Given the description of an element on the screen output the (x, y) to click on. 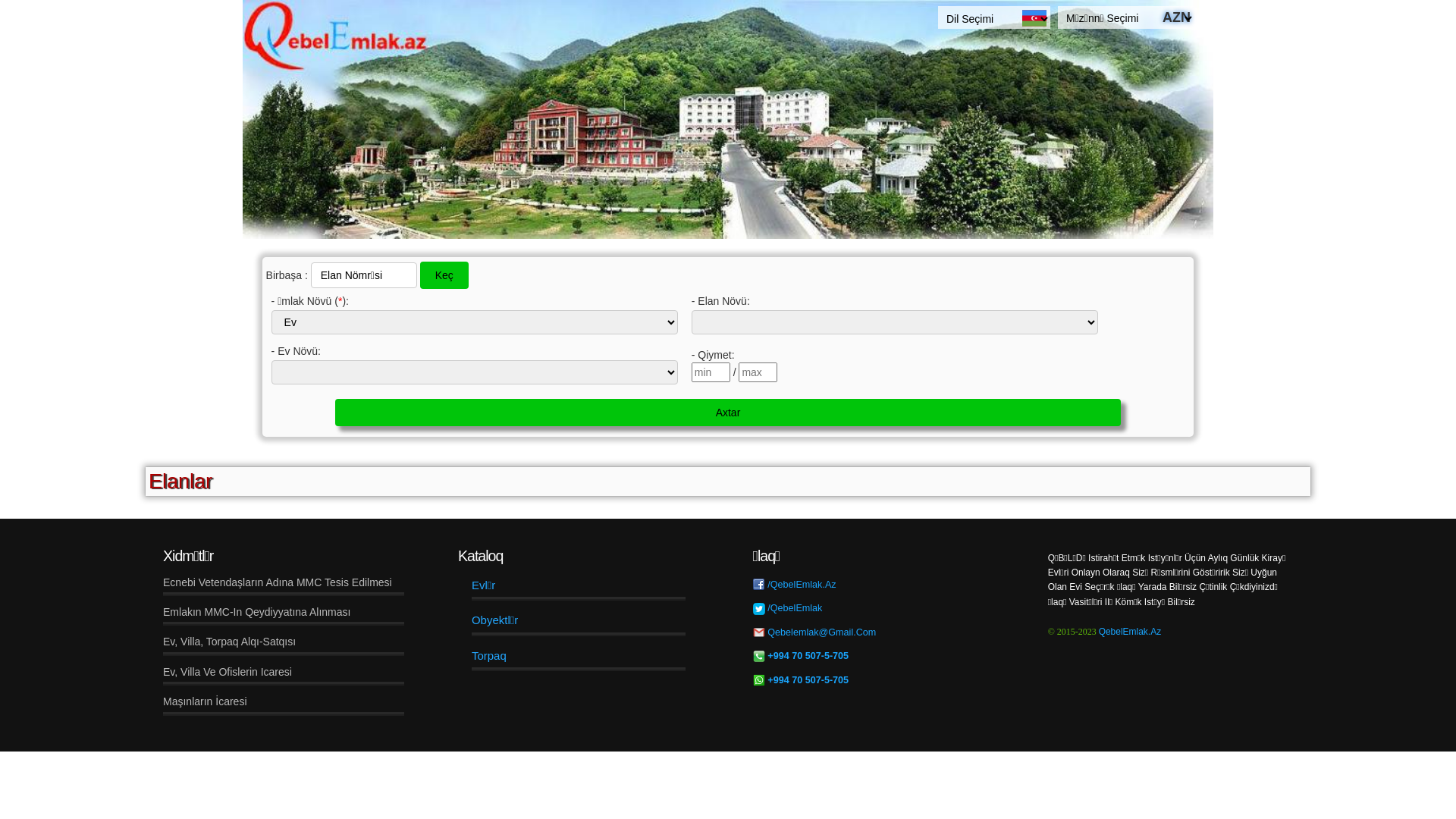
Axtar Element type: text (727, 412)
Torpaq Element type: text (488, 655)
QebelEmlak.Az Element type: text (1129, 631)
QebeleEmlak Qebelede Kiraye Evler Element type: hover (727, 119)
Qebelemlak@Gmail.Com Element type: text (820, 632)
+994 70 507-5-705 Element type: text (807, 679)
+994 70 507-5-705 Element type: text (806, 655)
/QebelEmlak.Az Element type: text (801, 584)
/QebelEmlak Element type: text (794, 607)
